Given the description of an element on the screen output the (x, y) to click on. 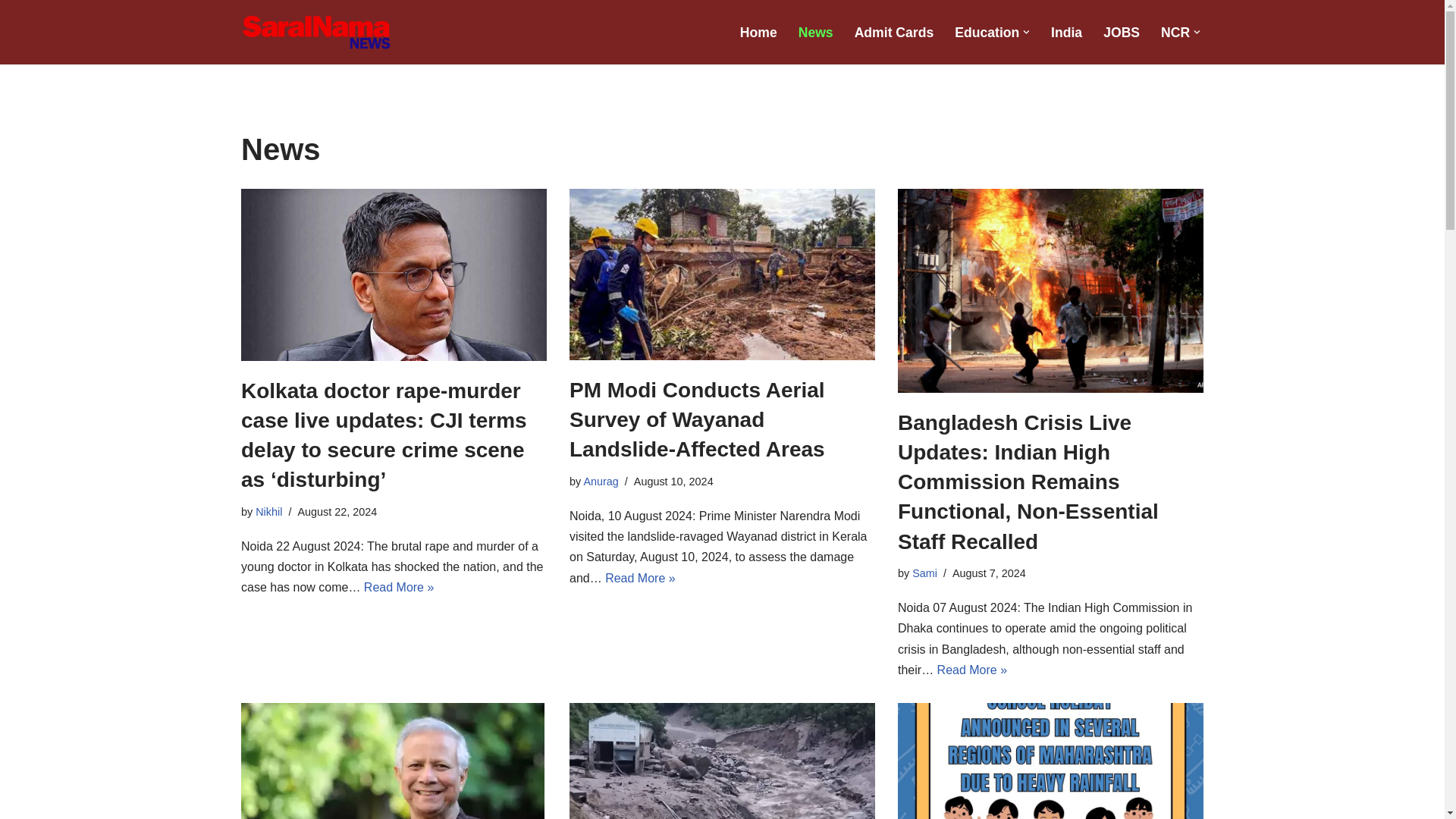
Posts by Nikhil (269, 511)
NCR (1174, 32)
Posts by Sami (924, 573)
Admit Cards (894, 32)
JOBS (1121, 32)
Nikhil (269, 511)
Education (987, 32)
